Given the description of an element on the screen output the (x, y) to click on. 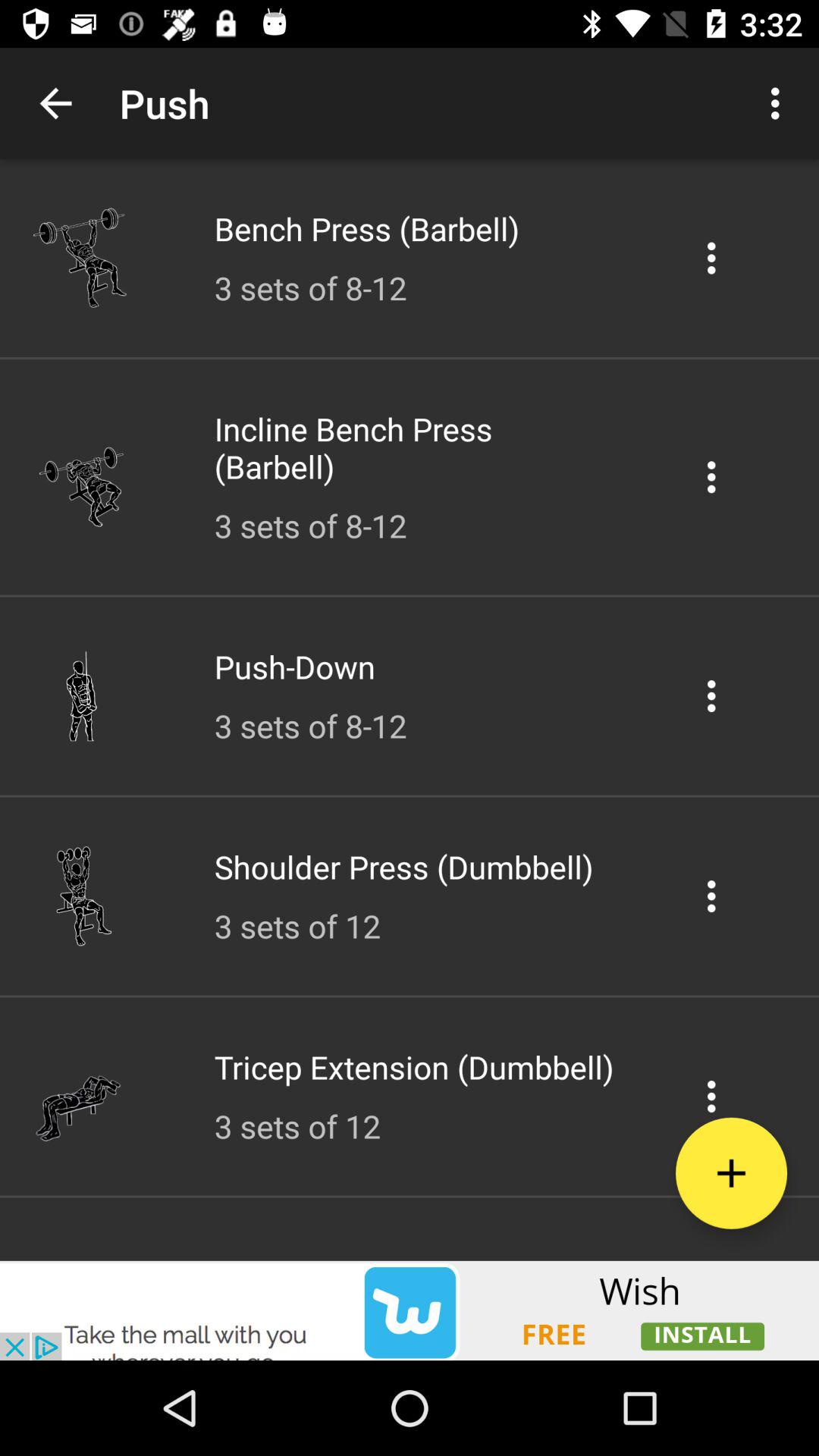
configuration option (711, 696)
